Given the description of an element on the screen output the (x, y) to click on. 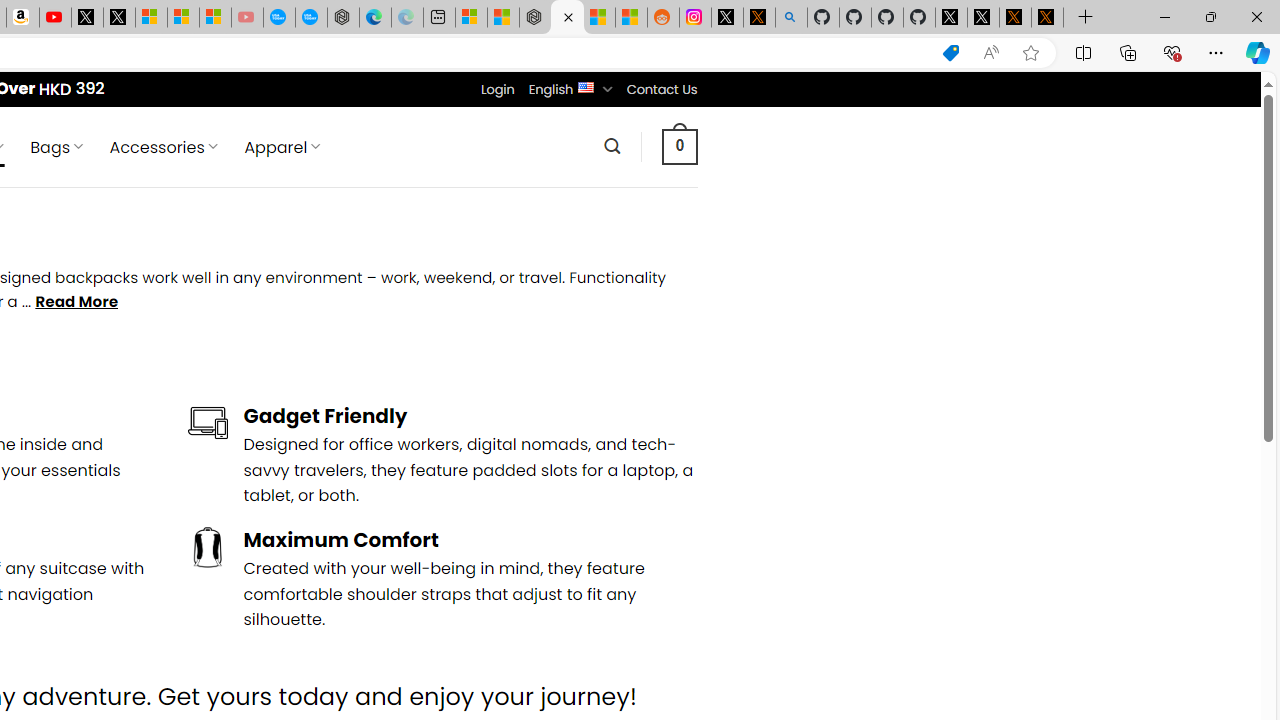
Login (497, 89)
 0  (679, 146)
Shanghai, China Weather trends | Microsoft Weather (630, 17)
github - Search (791, 17)
Gloom - YouTube - Sleeping (246, 17)
